Given the description of an element on the screen output the (x, y) to click on. 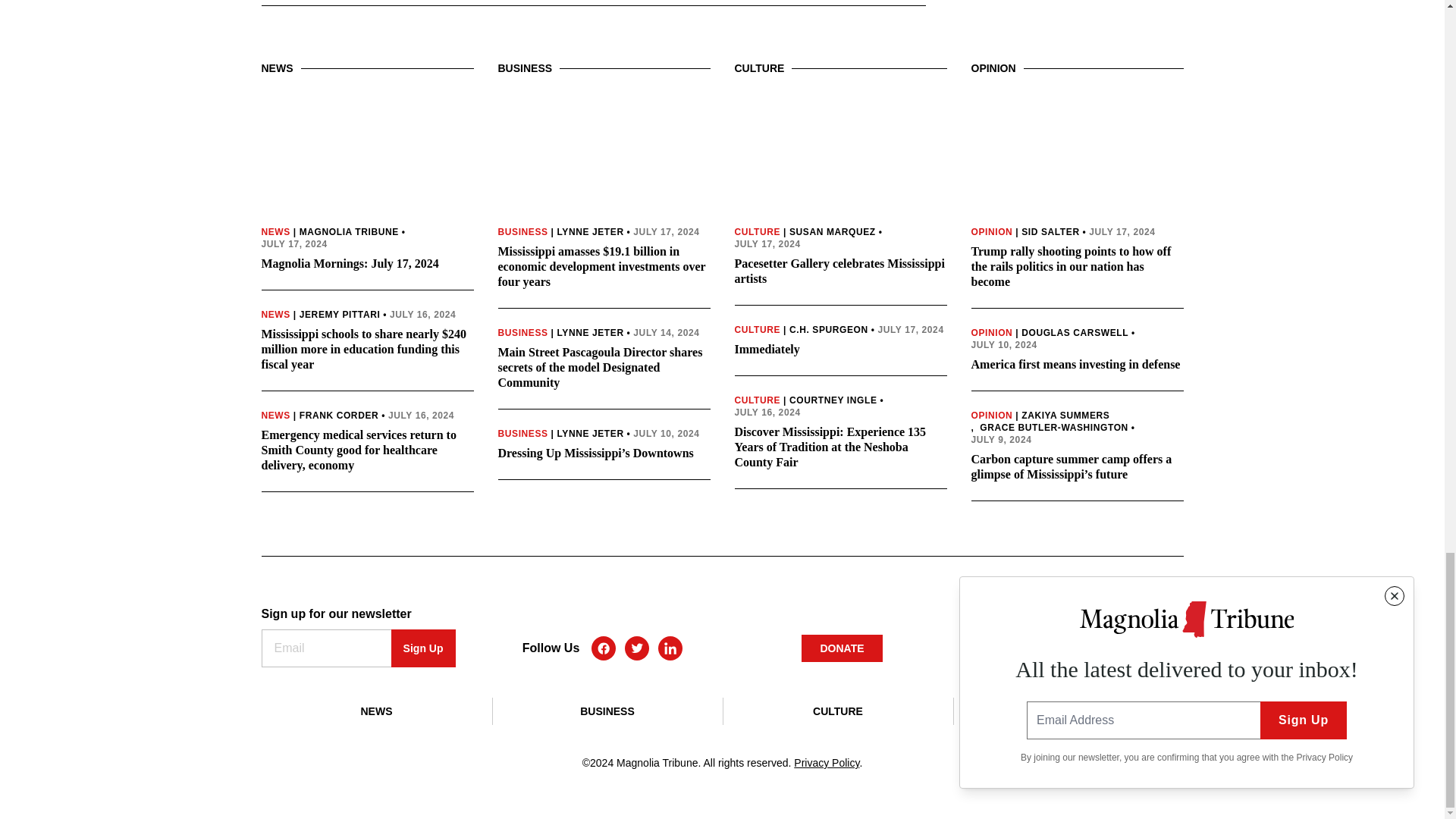
Sign Up (423, 648)
